Given the description of an element on the screen output the (x, y) to click on. 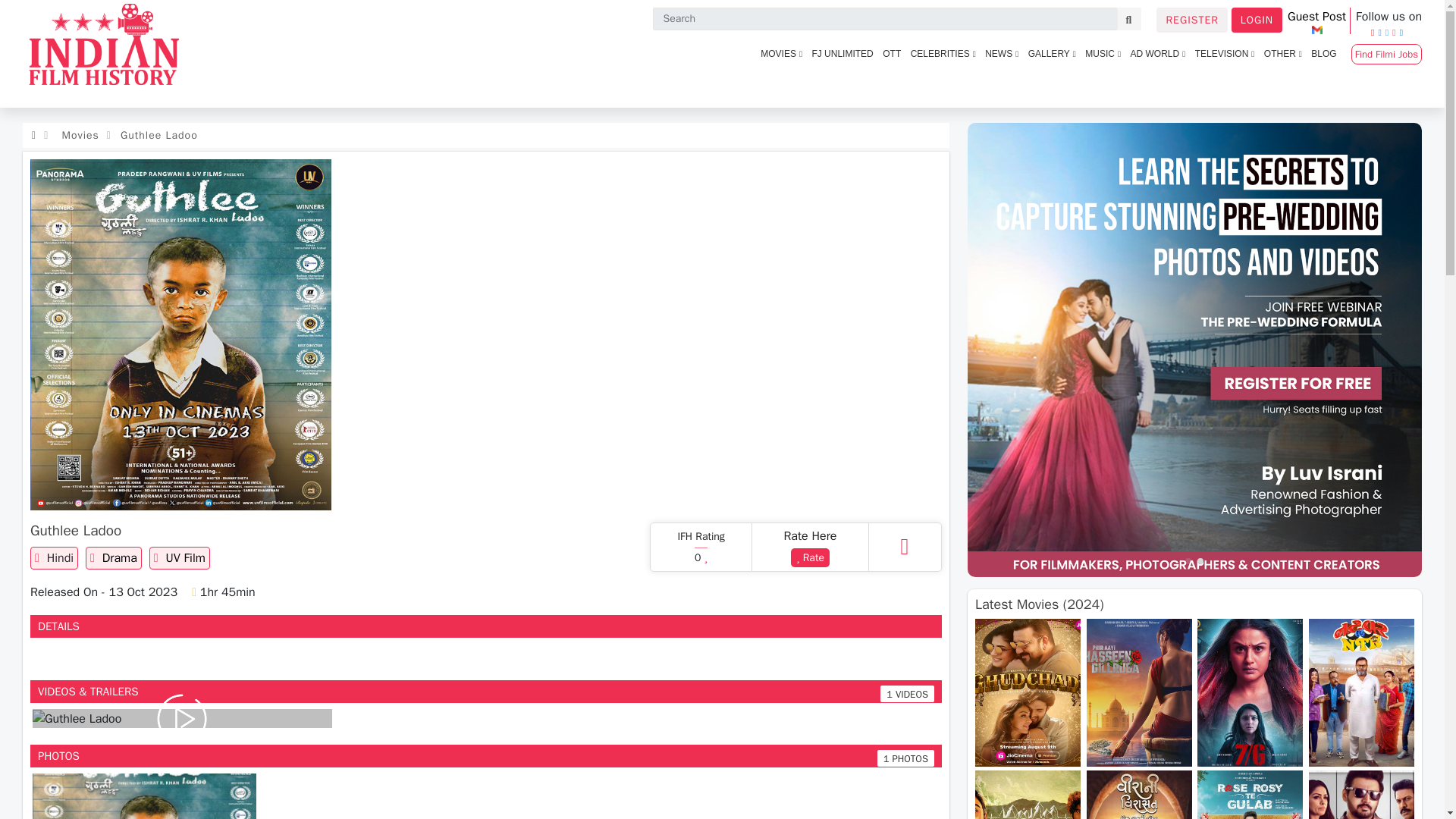
LOGIN (1256, 19)
REGISTER (1191, 19)
Guest Post (1316, 20)
Guthlee Ladoo (76, 719)
Guthlee Ladoo (144, 796)
indian film history (106, 54)
Indian Film History (181, 717)
